Given the description of an element on the screen output the (x, y) to click on. 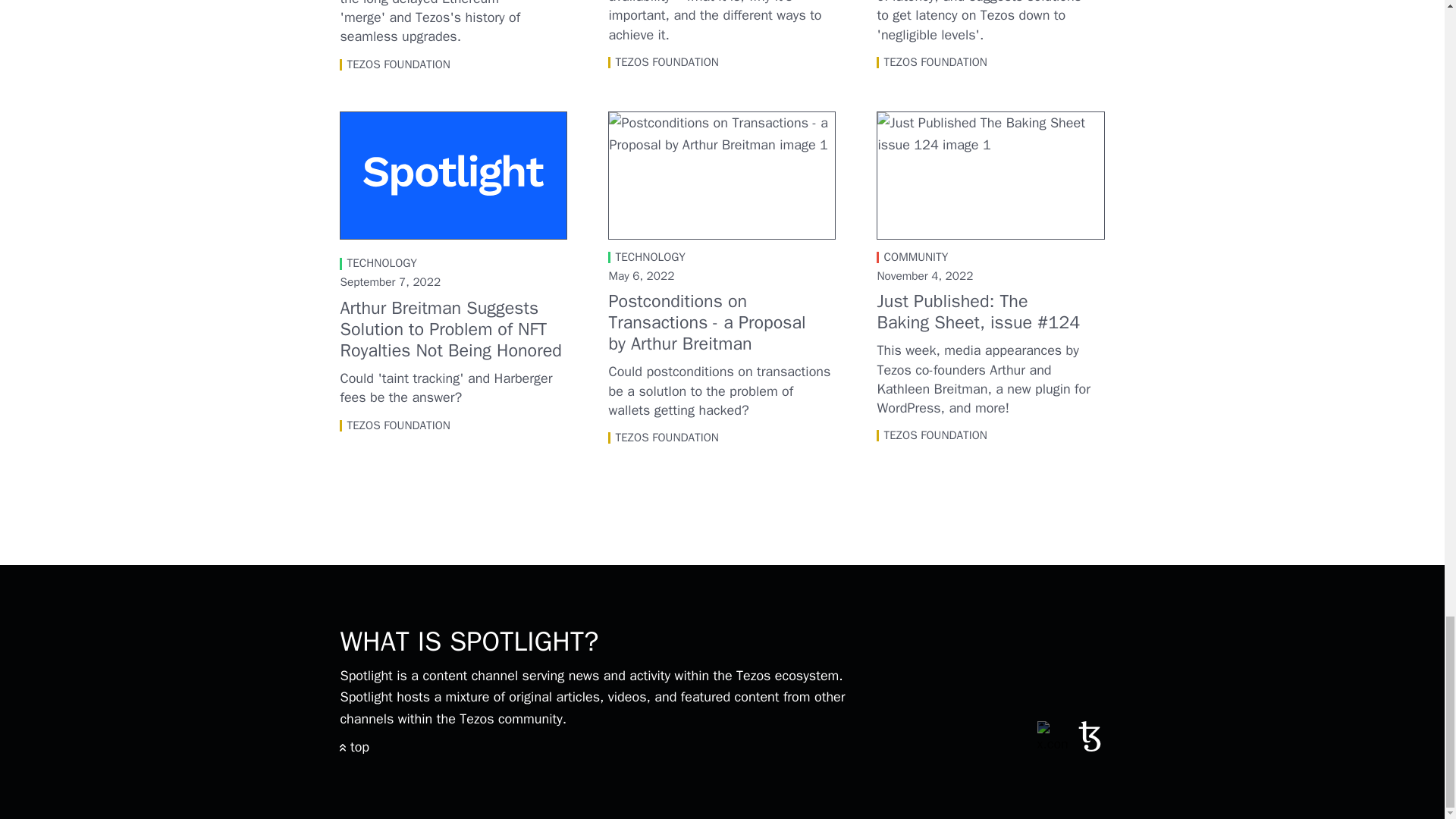
x.com (1051, 736)
top (354, 746)
Tezos (1088, 746)
